Given the description of an element on the screen output the (x, y) to click on. 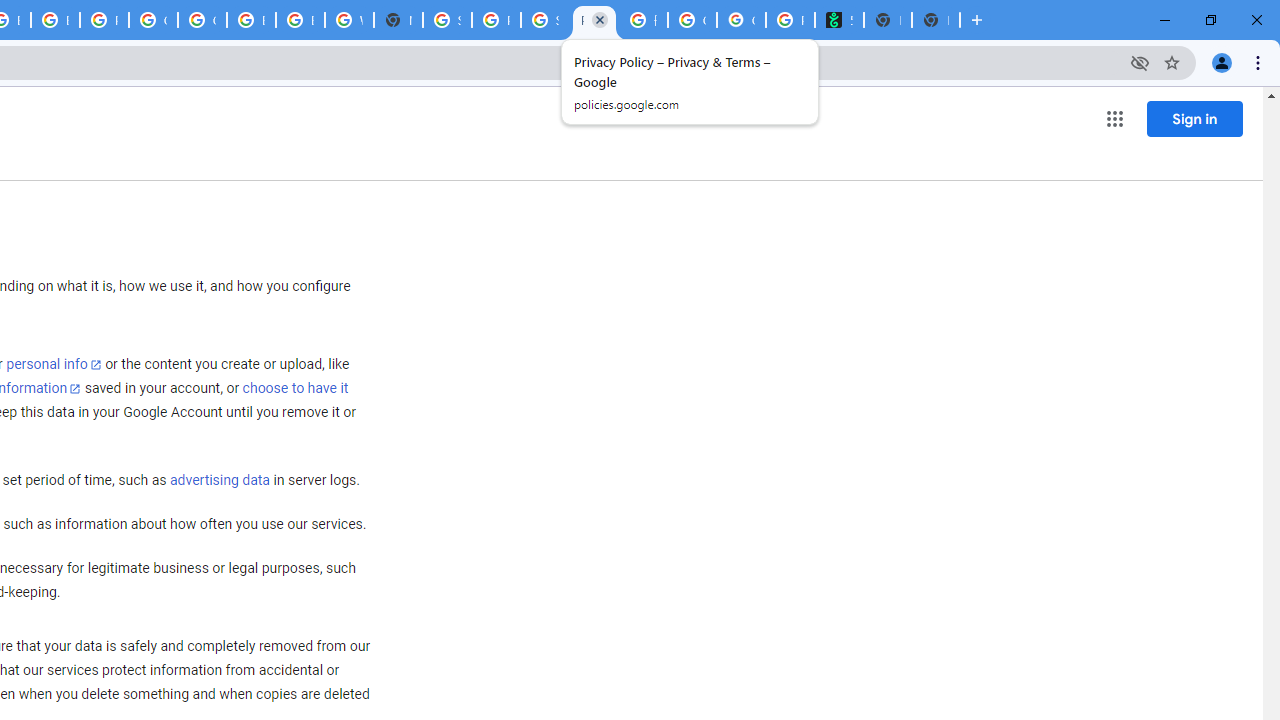
advertising data (219, 481)
New Tab (398, 20)
personal info (54, 364)
Sign in (1194, 118)
Google Cloud Platform (201, 20)
Third-party cookies blocked (1139, 62)
